Given the description of an element on the screen output the (x, y) to click on. 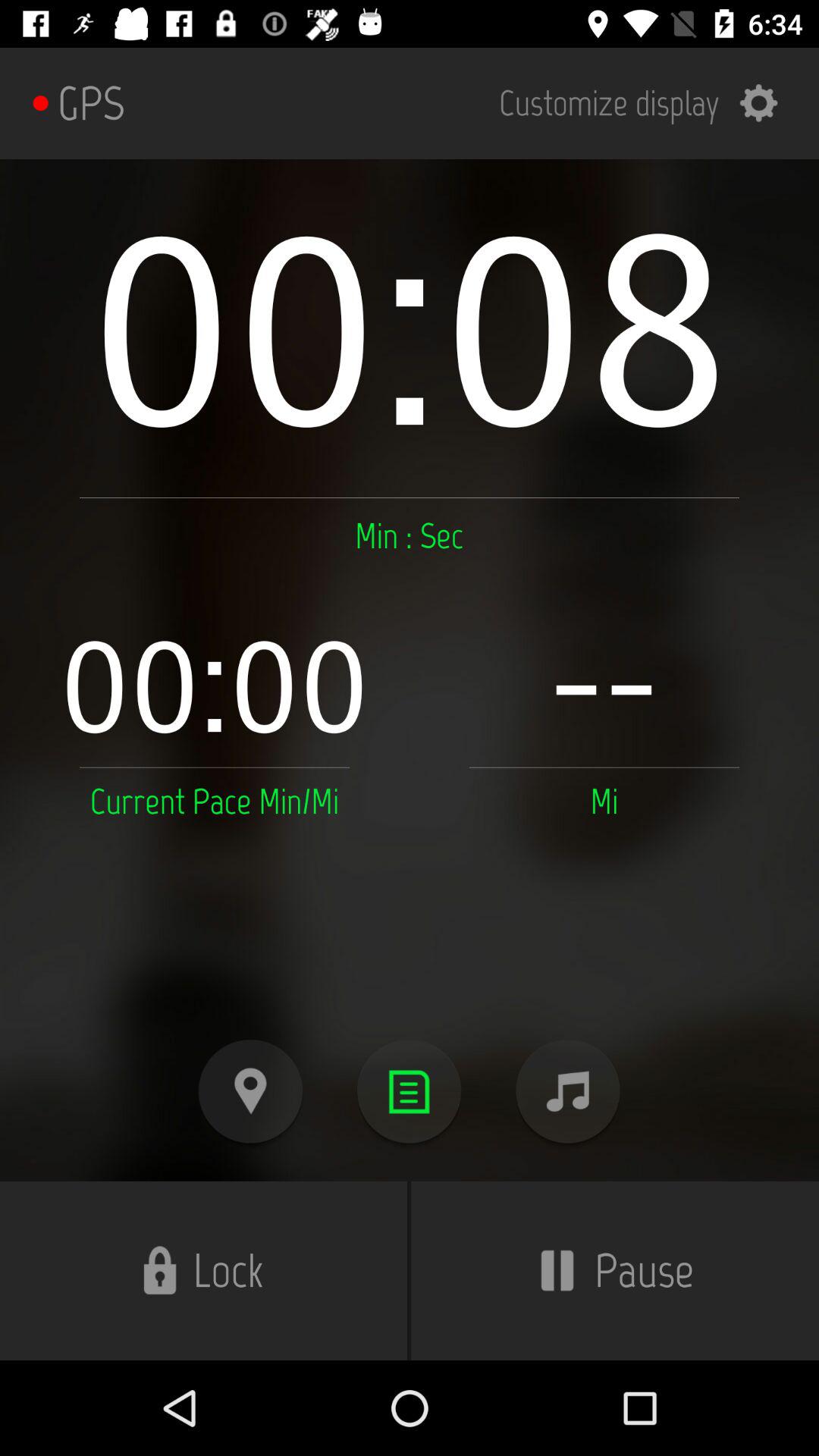
open the customize display (648, 103)
